Given the description of an element on the screen output the (x, y) to click on. 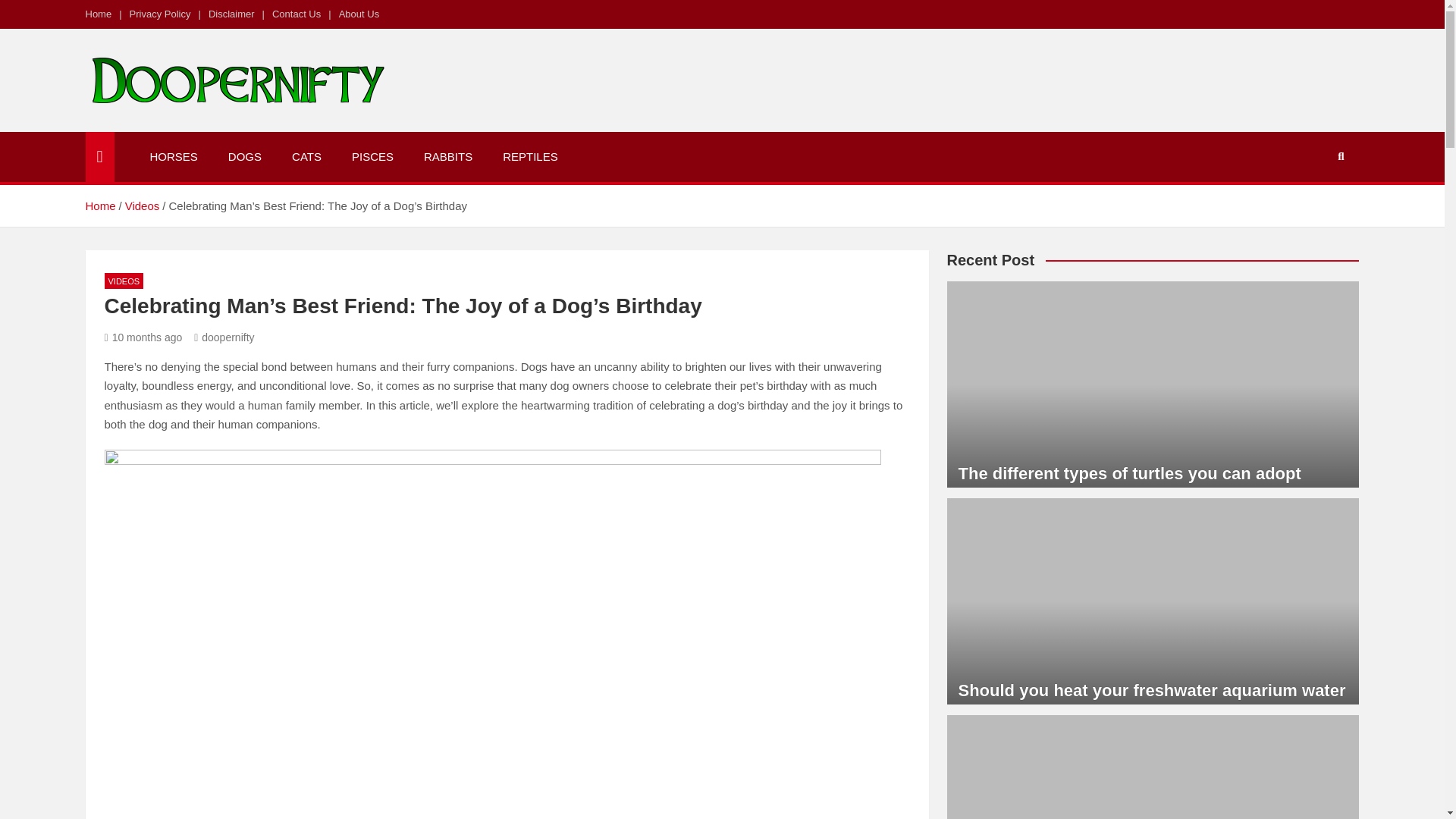
Home (99, 205)
HORSES (173, 156)
DOGS (244, 156)
REPTILES (530, 156)
Doopernifty (169, 128)
About Us (358, 13)
CATS (306, 156)
The different types of turtles you can adopt (1129, 473)
Disclaimer (231, 13)
10 months ago (143, 337)
